Given the description of an element on the screen output the (x, y) to click on. 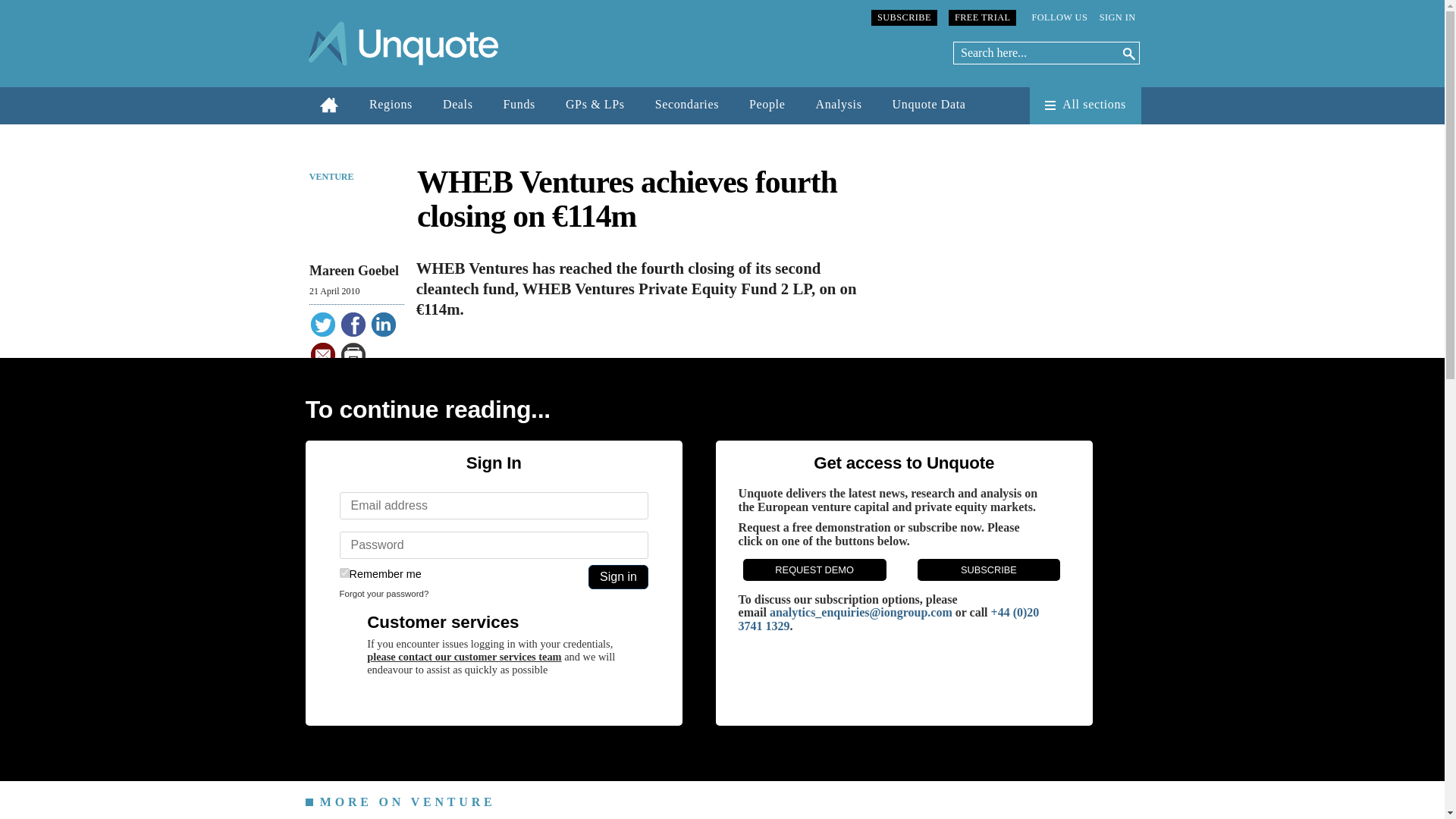
Yes (344, 573)
Sign in (617, 576)
